Given the description of an element on the screen output the (x, y) to click on. 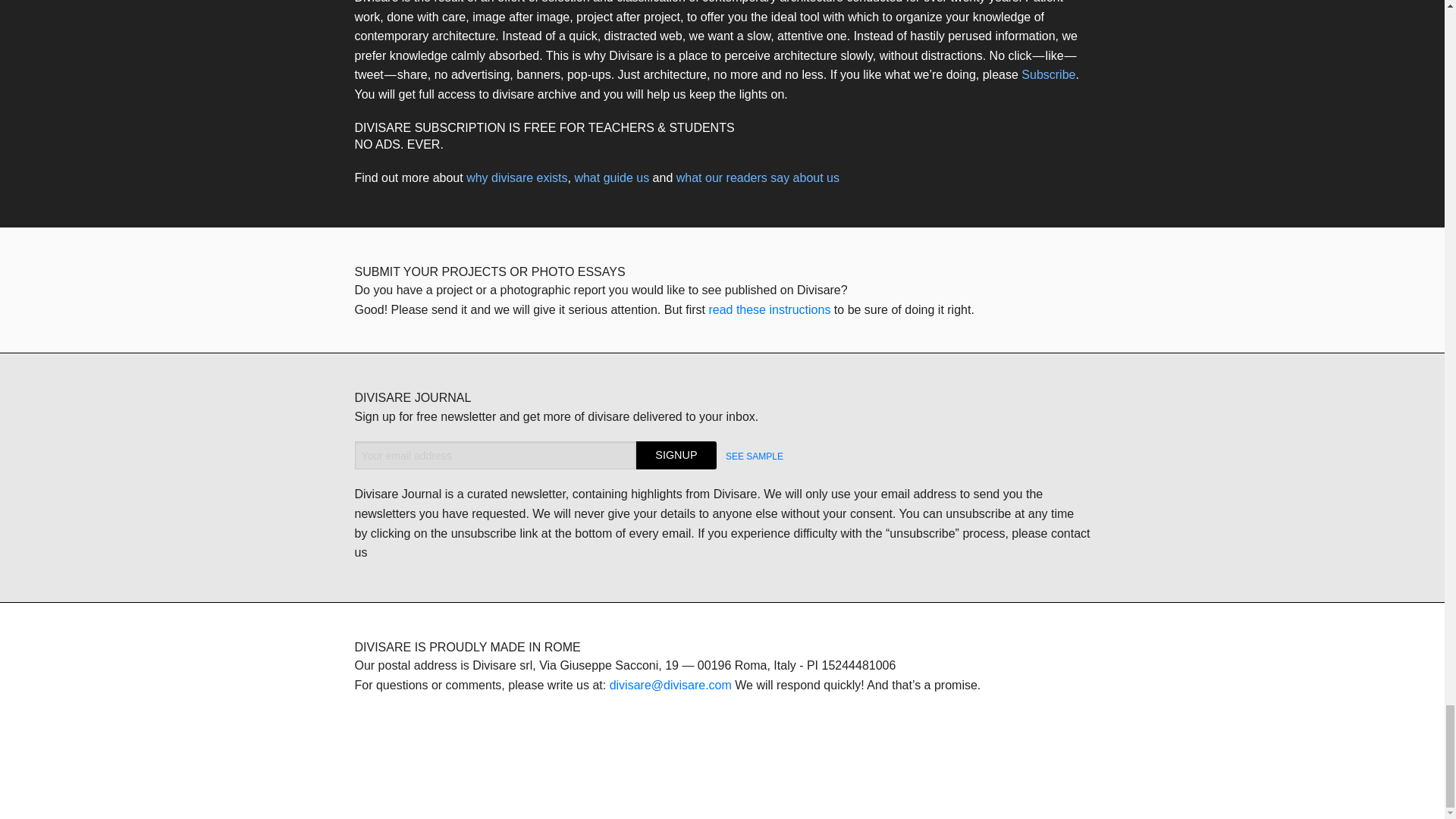
Signup (676, 455)
